Given the description of an element on the screen output the (x, y) to click on. 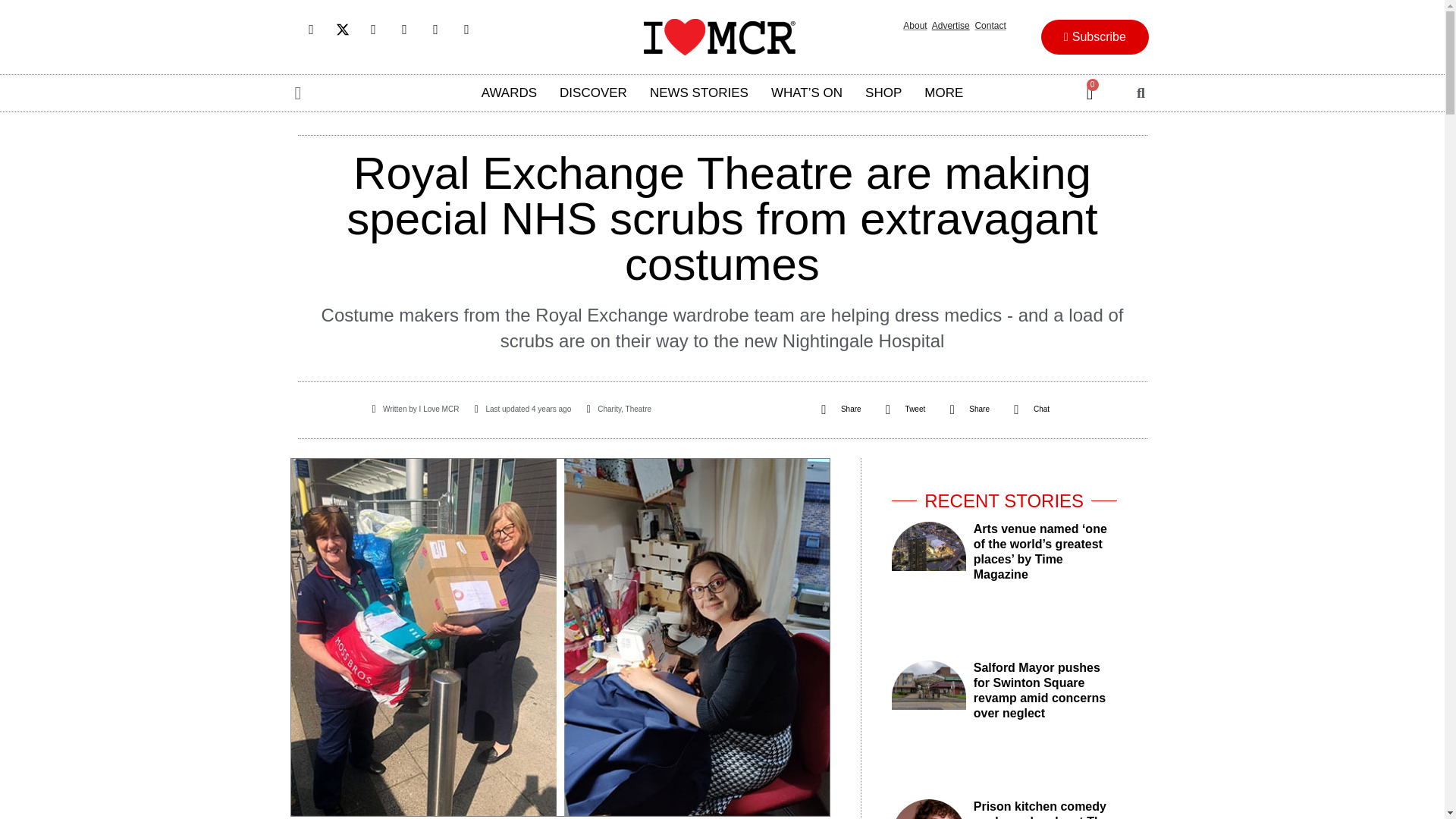
DISCOVER (593, 93)
Subscribe (1094, 36)
NEWS STORIES (699, 93)
ilovemcr-website-logo 544 (718, 36)
Advertise (950, 25)
Contact (990, 25)
About (914, 25)
AWARDS (509, 93)
